Given the description of an element on the screen output the (x, y) to click on. 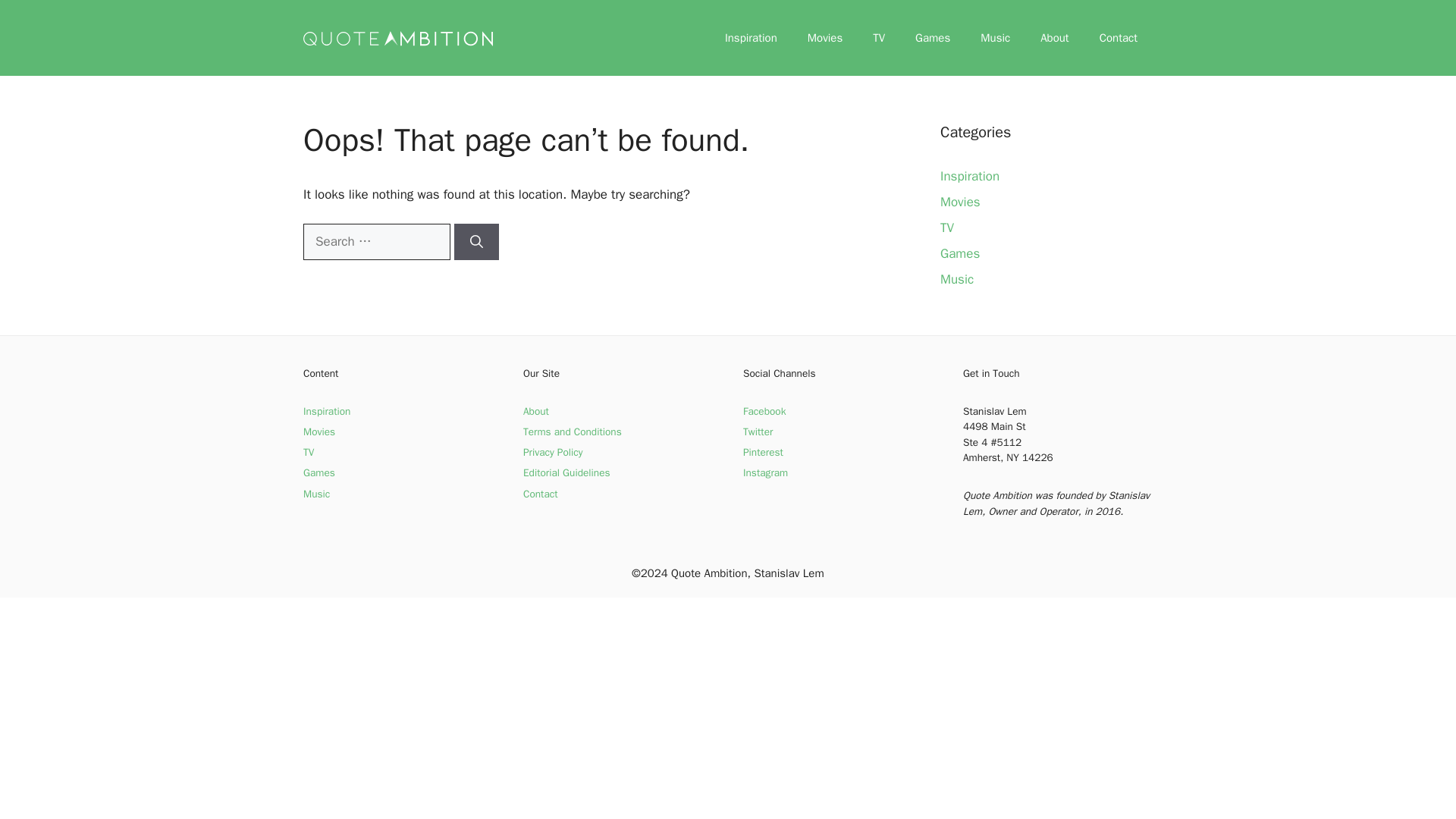
Movies (824, 37)
Twitter (757, 431)
Music (316, 493)
Contact (539, 493)
Movies (318, 431)
Music (957, 279)
Music (995, 37)
Pinterest (762, 451)
TV (878, 37)
Privacy Policy (552, 451)
